Given the description of an element on the screen output the (x, y) to click on. 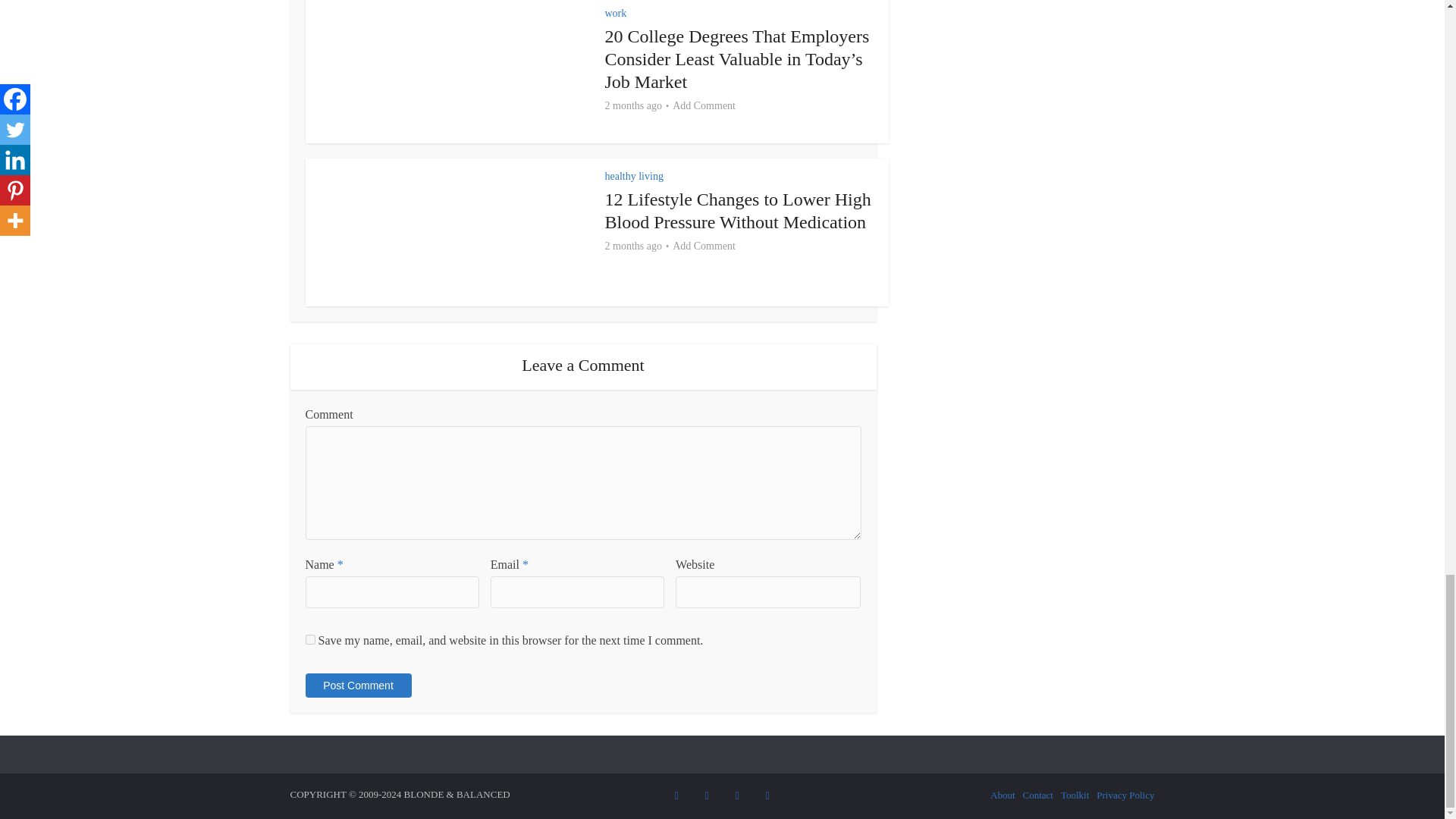
yes (309, 639)
Post Comment (357, 685)
